Given the description of an element on the screen output the (x, y) to click on. 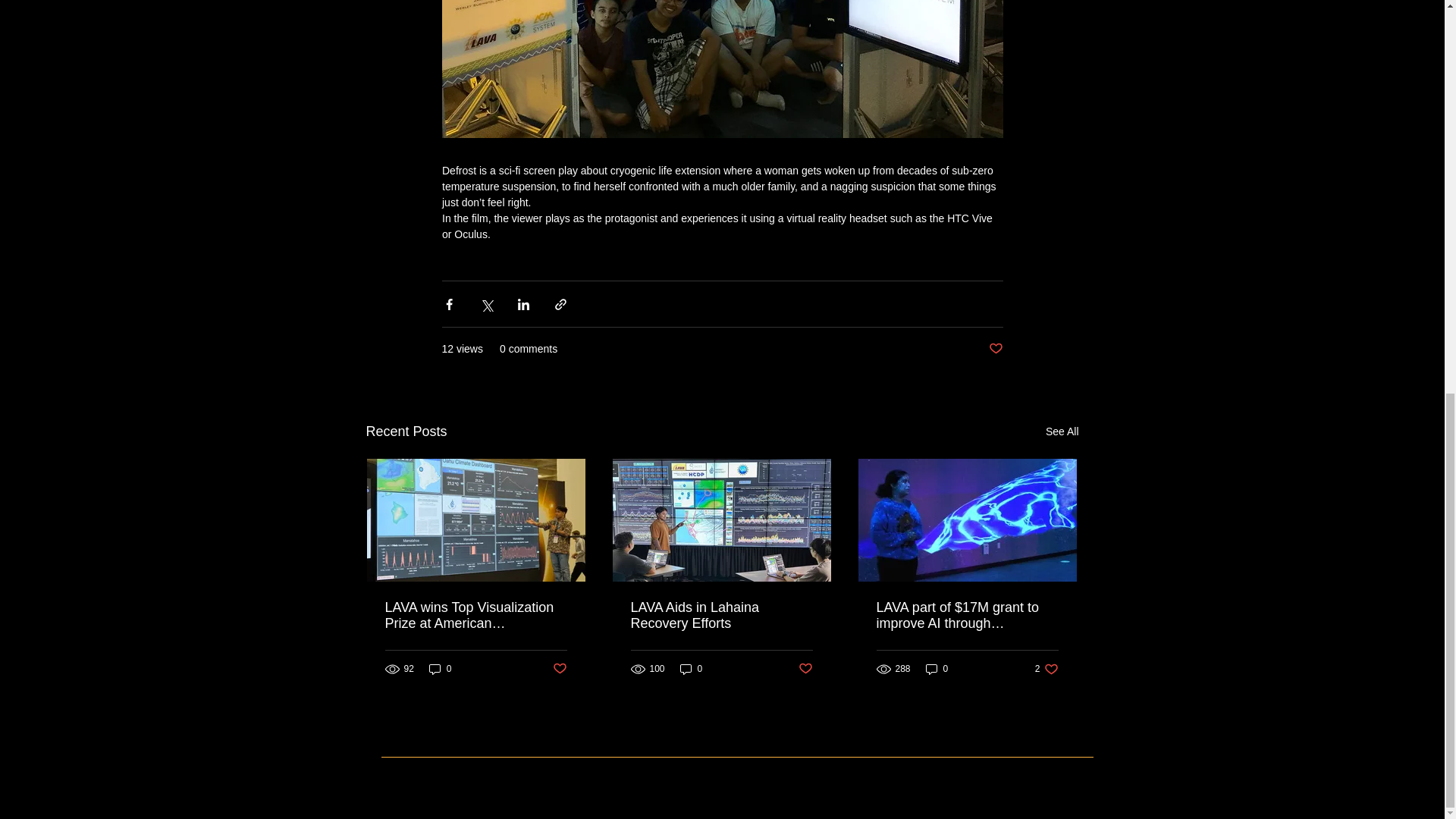
Post not marked as liked (804, 668)
0 (691, 668)
0 (937, 668)
Post not marked as liked (995, 349)
See All (1061, 431)
Post not marked as liked (558, 668)
0 (1046, 668)
LAVA Aids in Lahaina Recovery Efforts (440, 668)
